Given the description of an element on the screen output the (x, y) to click on. 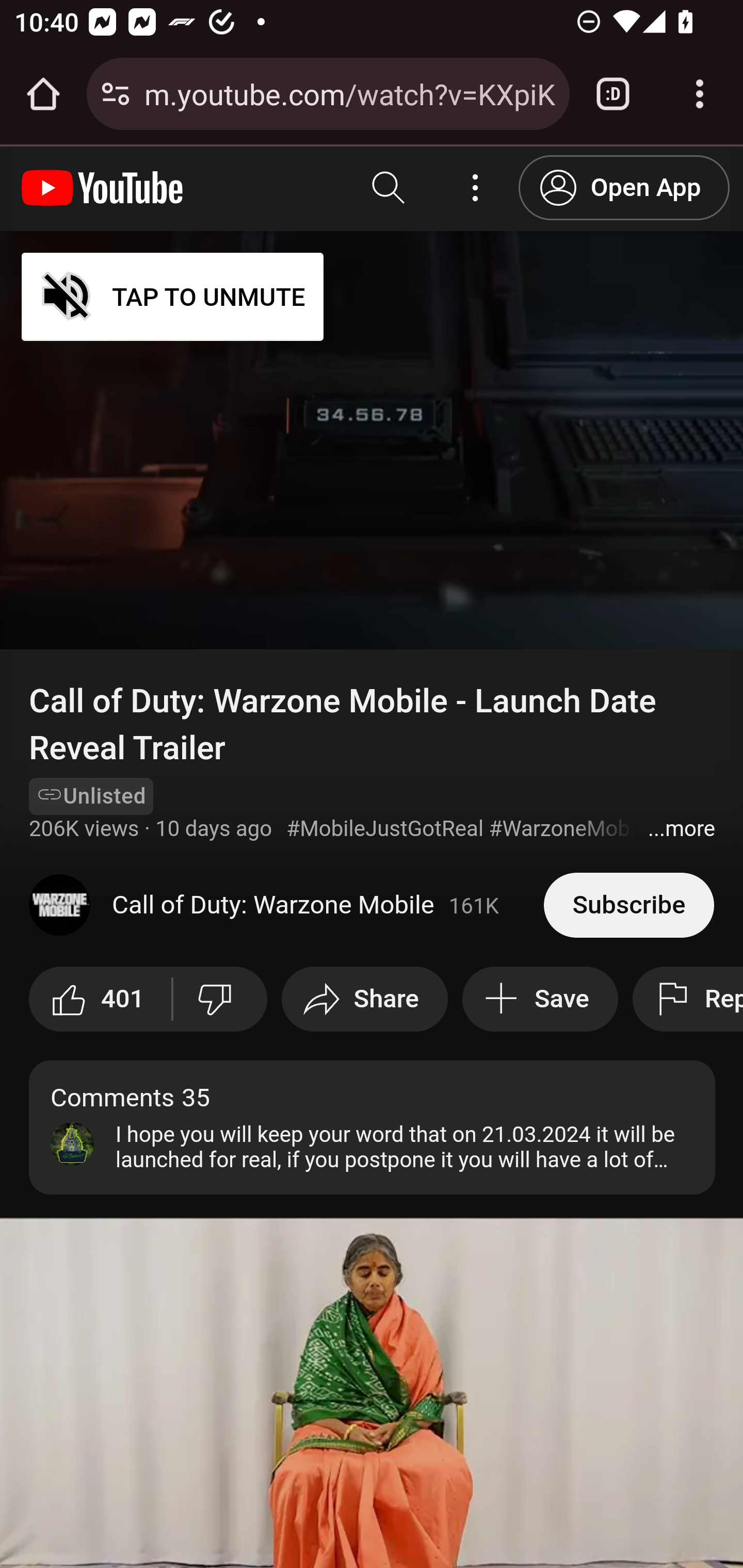
Open the home page (43, 93)
Connection is secure (115, 93)
Switch or close tabs (612, 93)
Customize and control Google Chrome (699, 93)
m.youtube.com/watch?v=KXpiKT90x0w (349, 92)
YouTube (102, 188)
Search YouTube (388, 188)
Account (475, 188)
Open App (624, 187)
TAP TO UNMUTE (173, 296)
Show more (681, 829)
#MobileJustGotReal (384, 829)
#WarzoneMobile (570, 829)
Subscribe to Call of Duty: Warzone Mobile. (627, 905)
Call of Duty: Warzone Mobile (286, 904)
like this video along with 401 other people (101, 999)
Dislike this video (219, 999)
Share (364, 999)
Save to playlist (538, 999)
Comments (372, 1126)
